Given the description of an element on the screen output the (x, y) to click on. 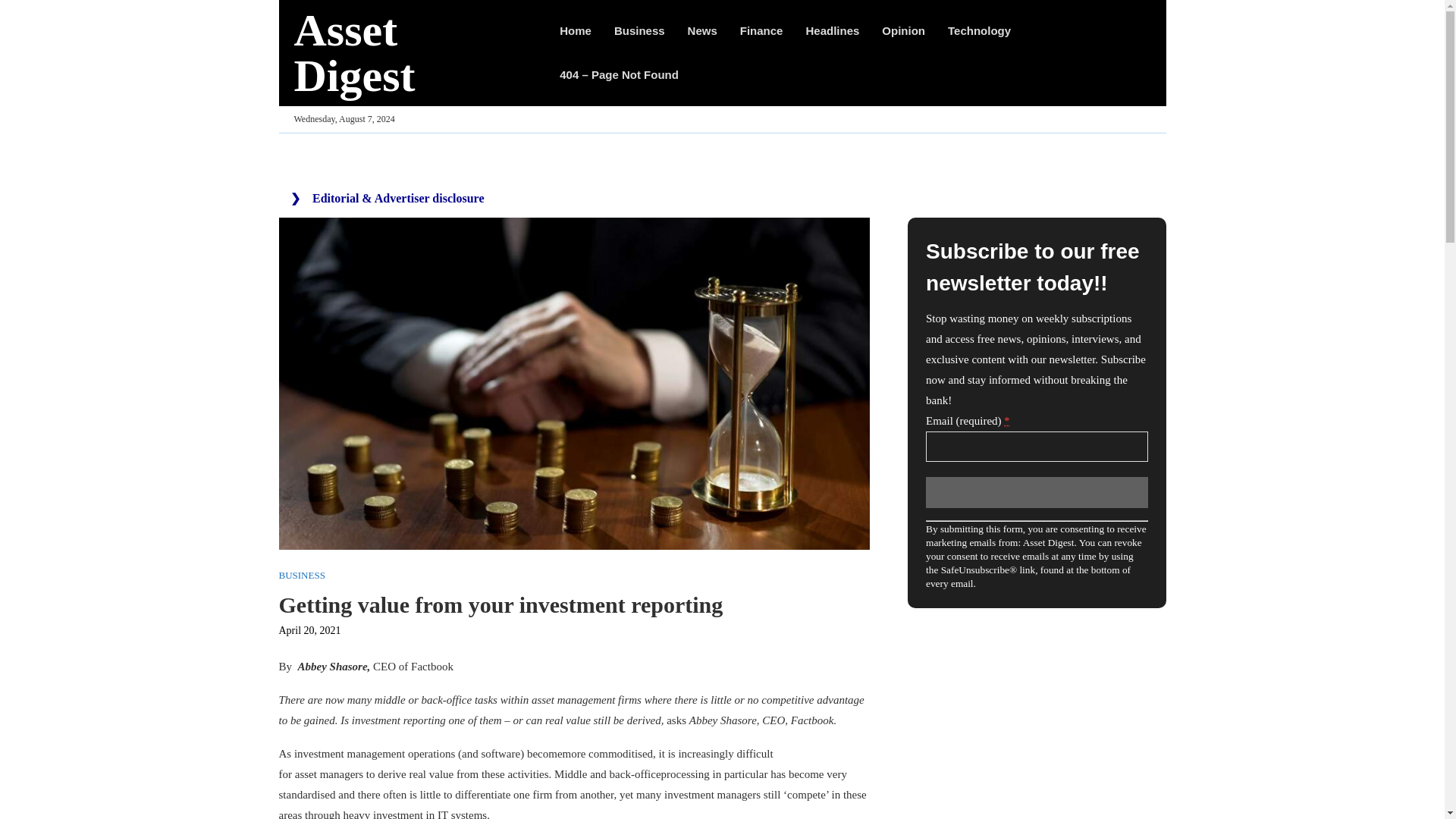
BUSINESS (301, 575)
Sign up for free! (1036, 491)
Business (639, 31)
Finance (761, 31)
Asset Digest (411, 52)
Technology (978, 31)
Headlines (832, 31)
Opinion (903, 31)
Business (639, 31)
